Given the description of an element on the screen output the (x, y) to click on. 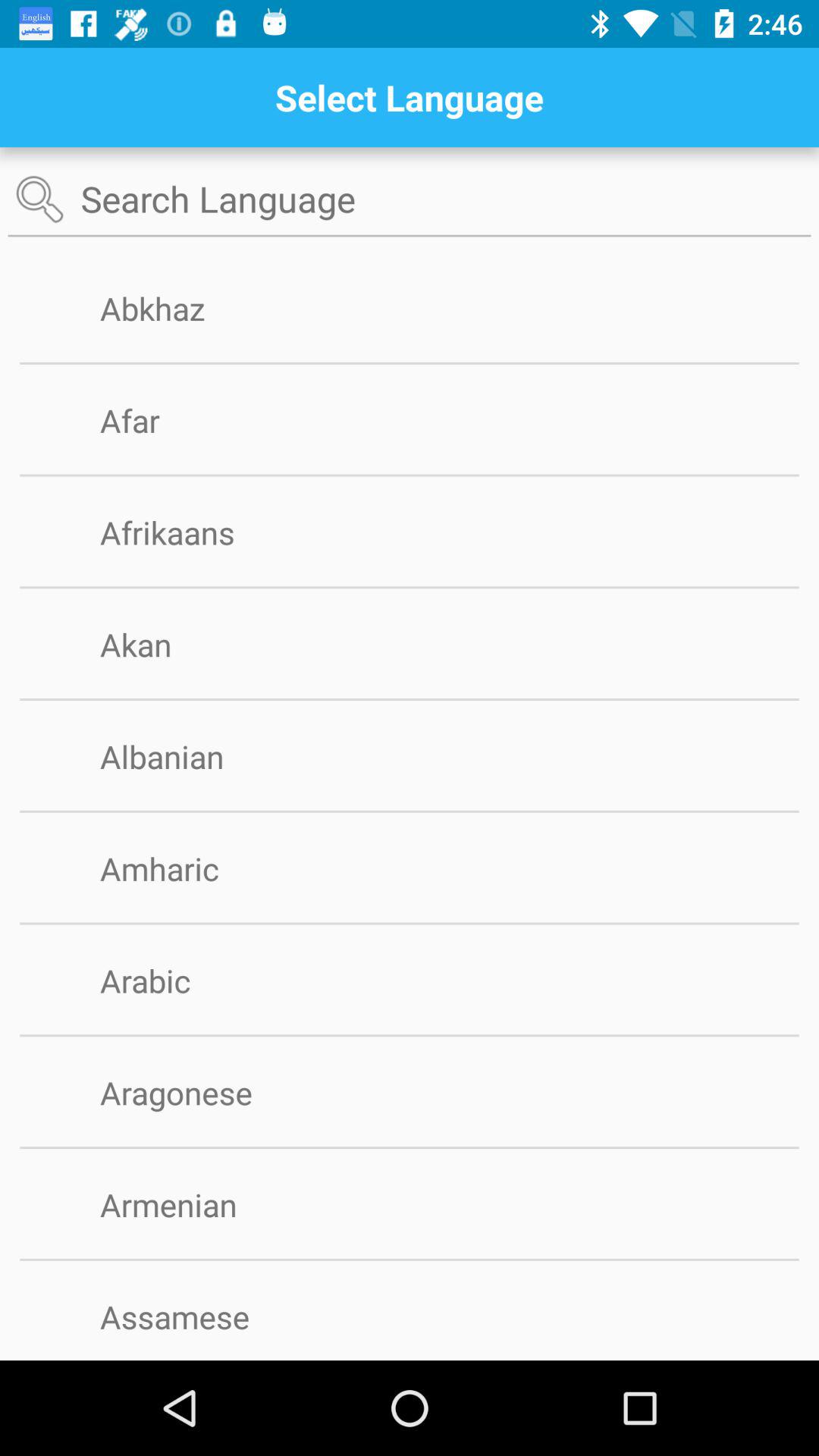
click the app above afar item (409, 363)
